Given the description of an element on the screen output the (x, y) to click on. 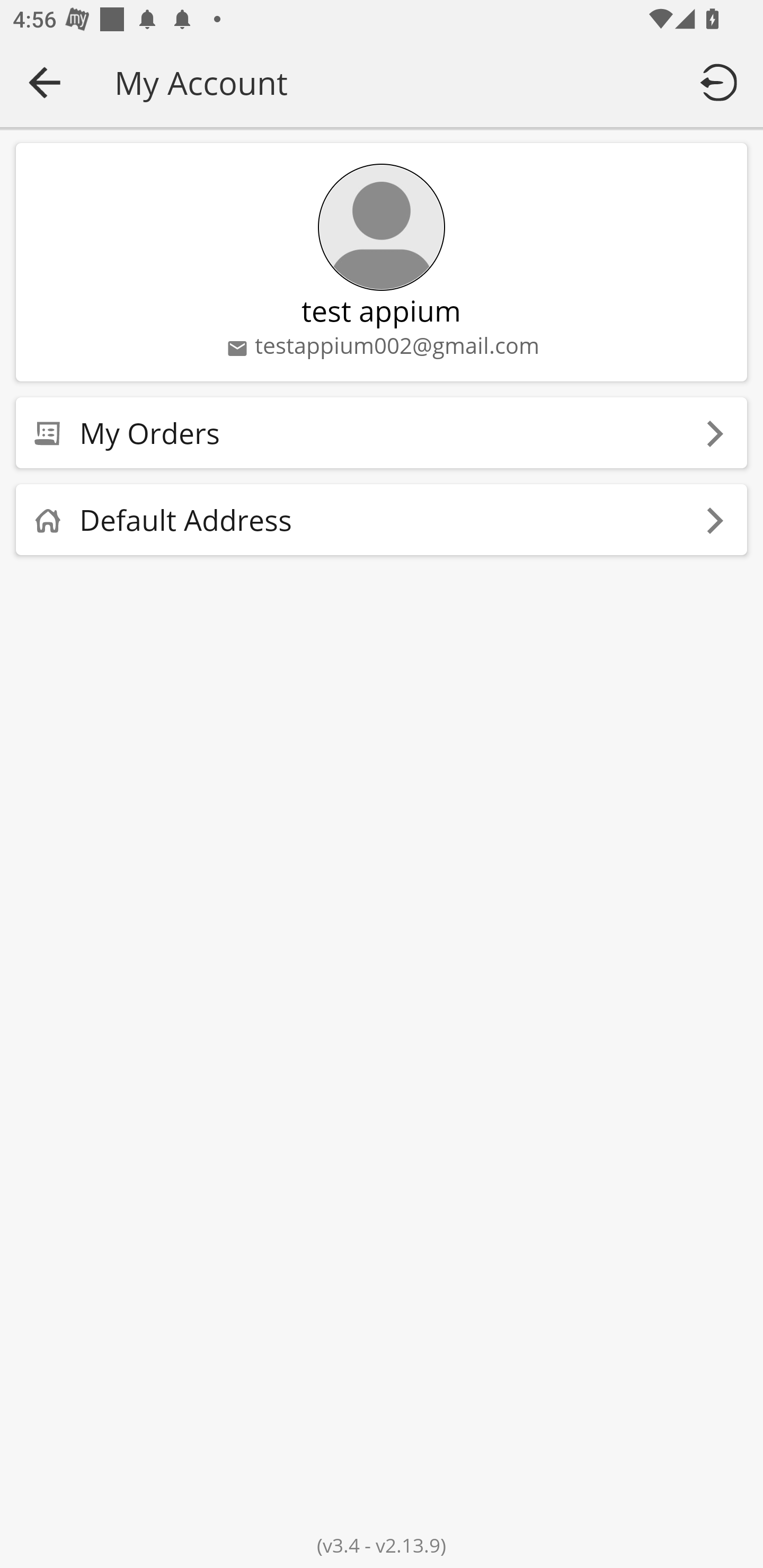
Navigate up (44, 82)
LOGOUT (721, 81)
